Given the description of an element on the screen output the (x, y) to click on. 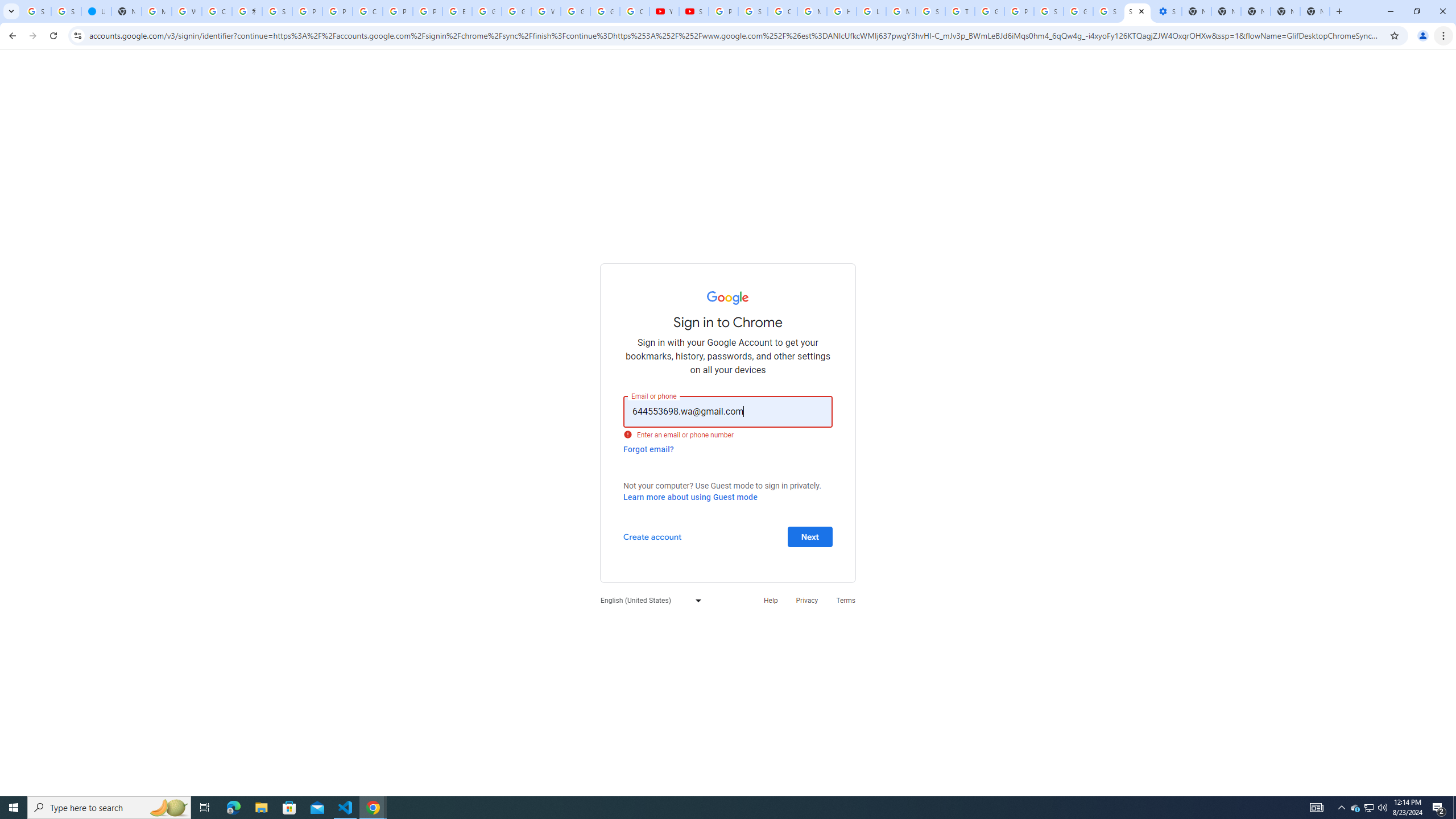
Create your Google Account (367, 11)
Create account (651, 536)
Sign in - Google Accounts (65, 11)
Welcome to My Activity (545, 11)
Sign in - Google Accounts (1107, 11)
YouTube (664, 11)
Sign in - Google Accounts (277, 11)
Sign in - Google Accounts (36, 11)
USA TODAY (95, 11)
